Given the description of an element on the screen output the (x, y) to click on. 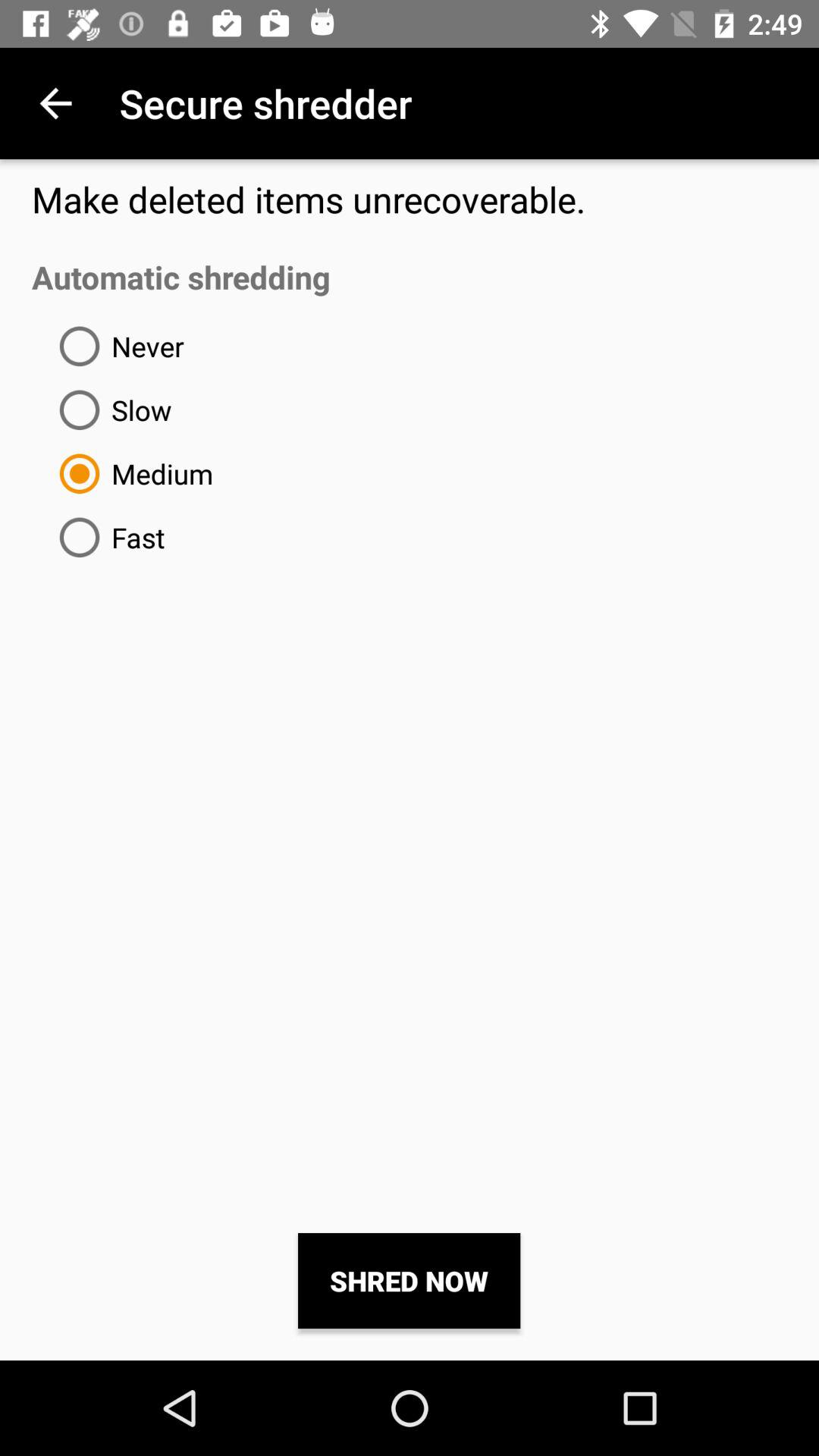
tap the icon next to the secure shredder (55, 103)
